Given the description of an element on the screen output the (x, y) to click on. 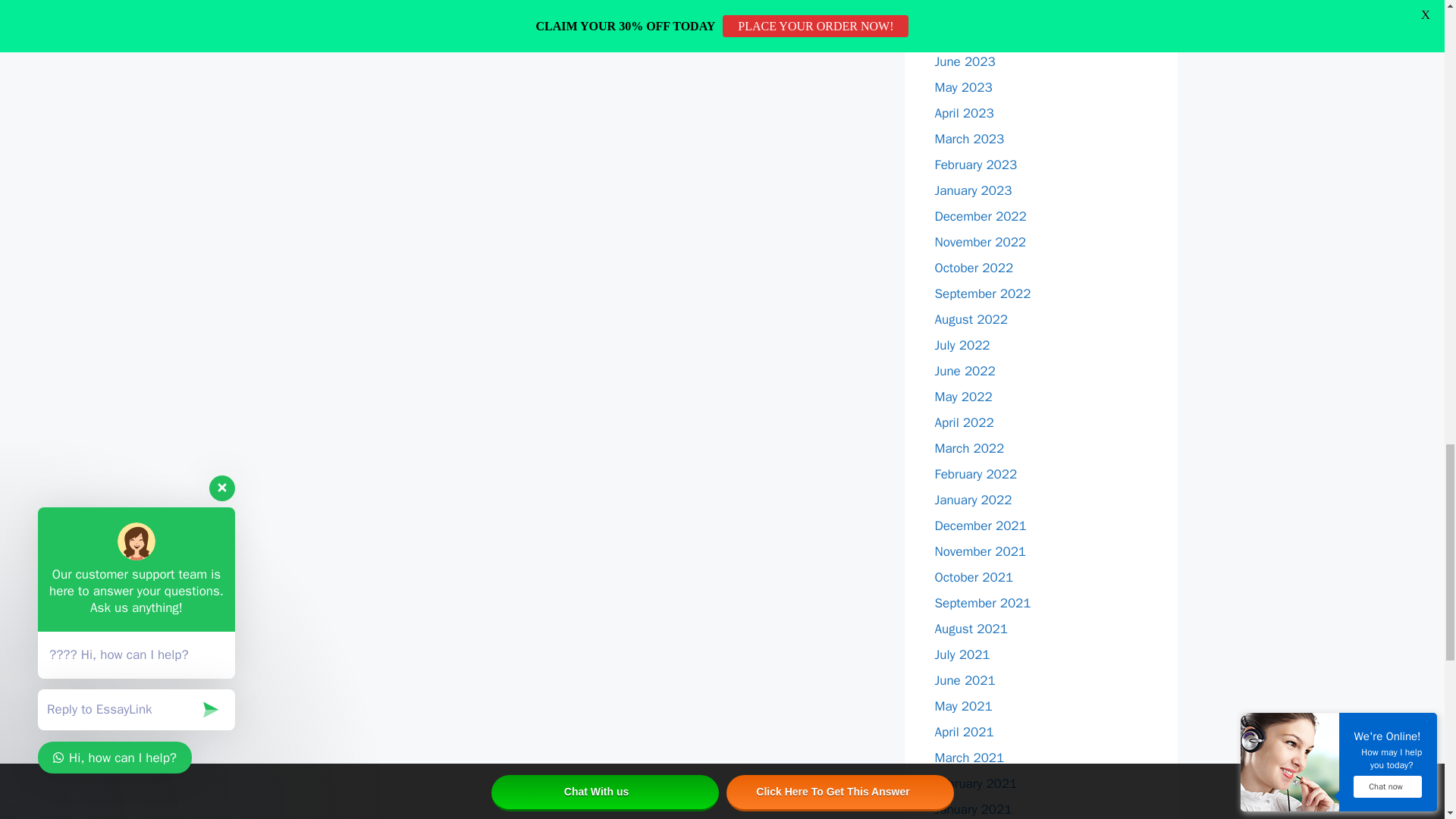
February 2023 (975, 164)
November 2022 (980, 242)
July 2023 (962, 35)
October 2022 (973, 268)
March 2023 (969, 139)
December 2022 (980, 216)
April 2023 (963, 113)
June 2023 (964, 61)
January 2023 (972, 190)
August 2023 (970, 10)
May 2023 (962, 87)
